Given the description of an element on the screen output the (x, y) to click on. 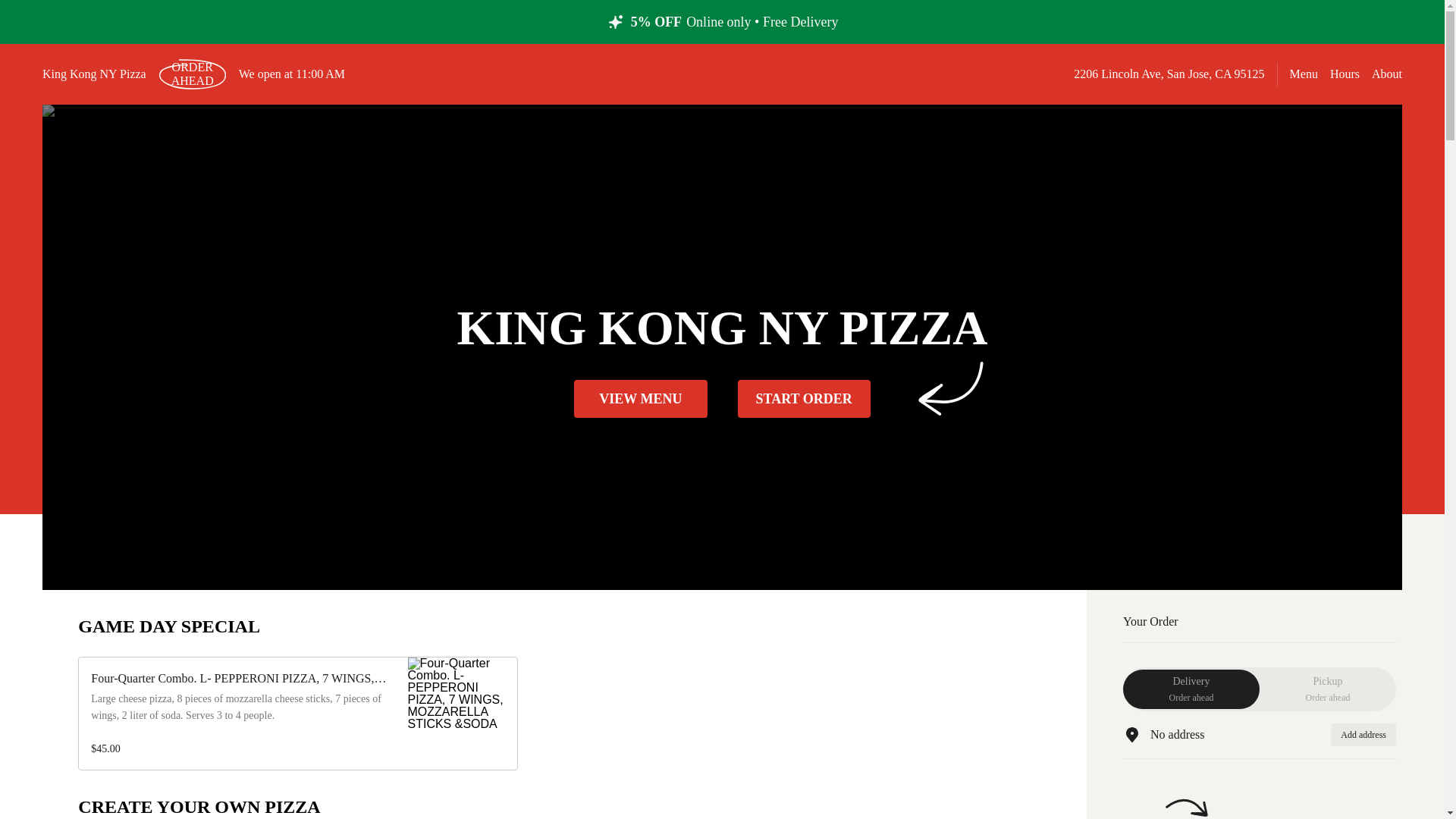
ORDER AHEAD (192, 73)
Hours (1344, 74)
START ORDER (802, 398)
Menu (1303, 73)
About (1386, 73)
Add address (1363, 734)
VIEW MENU (1190, 689)
